Given the description of an element on the screen output the (x, y) to click on. 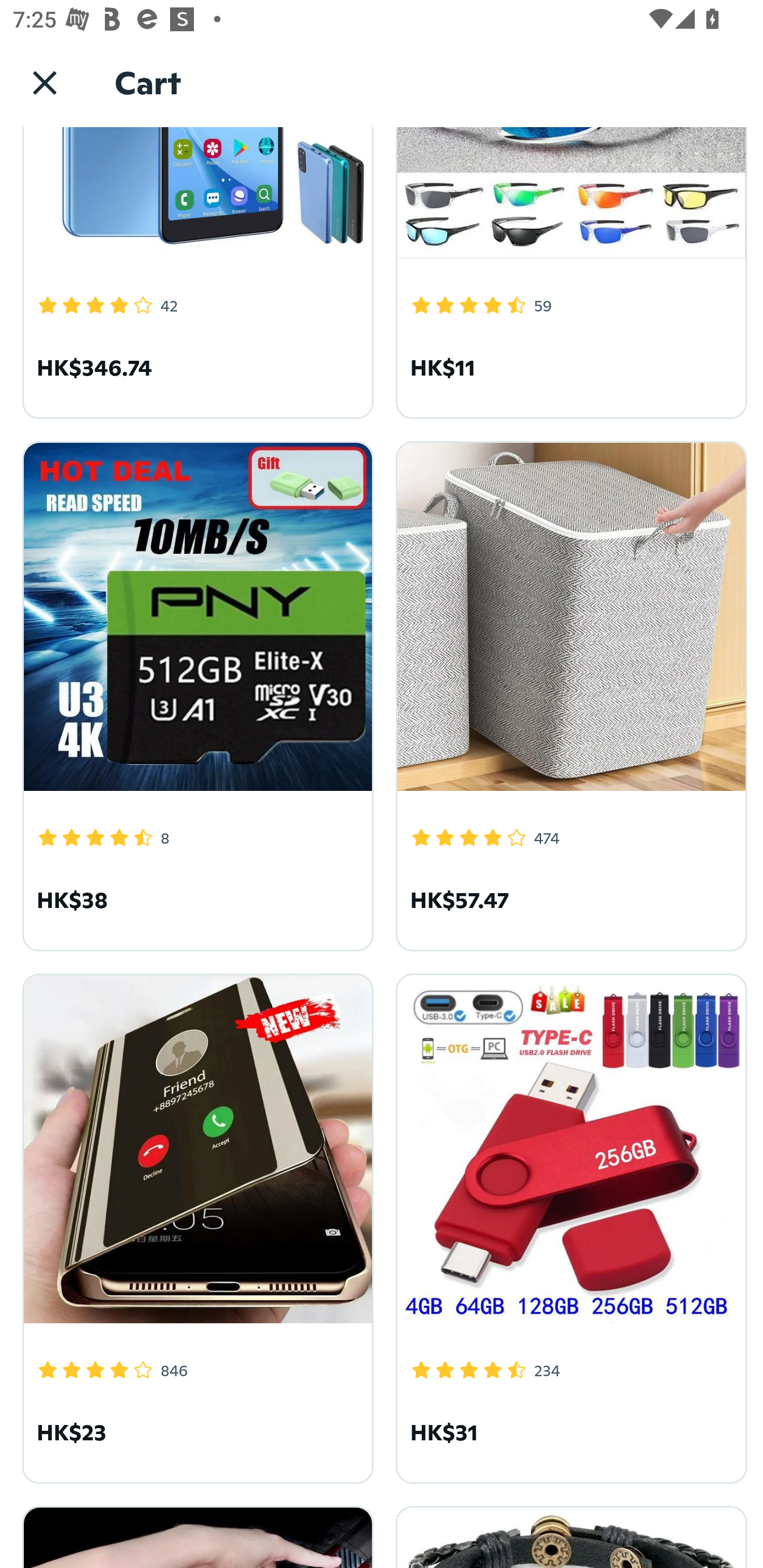
Navigate up (44, 82)
3.8 Star Rating 42 HK$346.74 (194, 272)
4.4 Star Rating 59 HK$11 (567, 272)
4.5 Star Rating 8 HK$38 (194, 692)
4 Star Rating 474 HK$57.47 (567, 692)
4.1 Star Rating 846 HK$23 (194, 1225)
4.4 Star Rating 234 HK$31 (567, 1225)
